Given the description of an element on the screen output the (x, y) to click on. 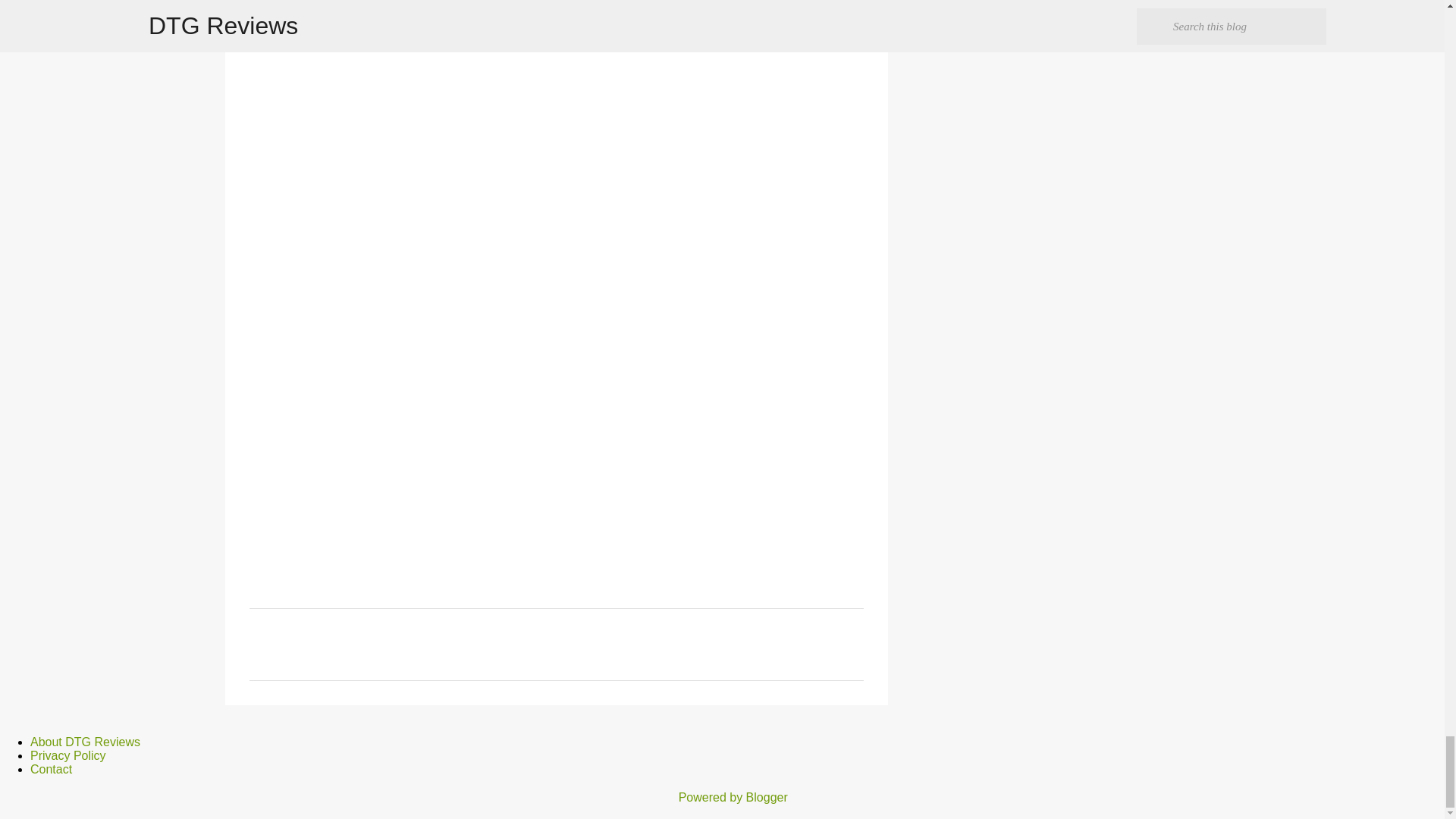
About DTG Reviews (84, 741)
Privacy Policy (68, 755)
Contact (50, 768)
Powered by Blogger (721, 797)
